Given the description of an element on the screen output the (x, y) to click on. 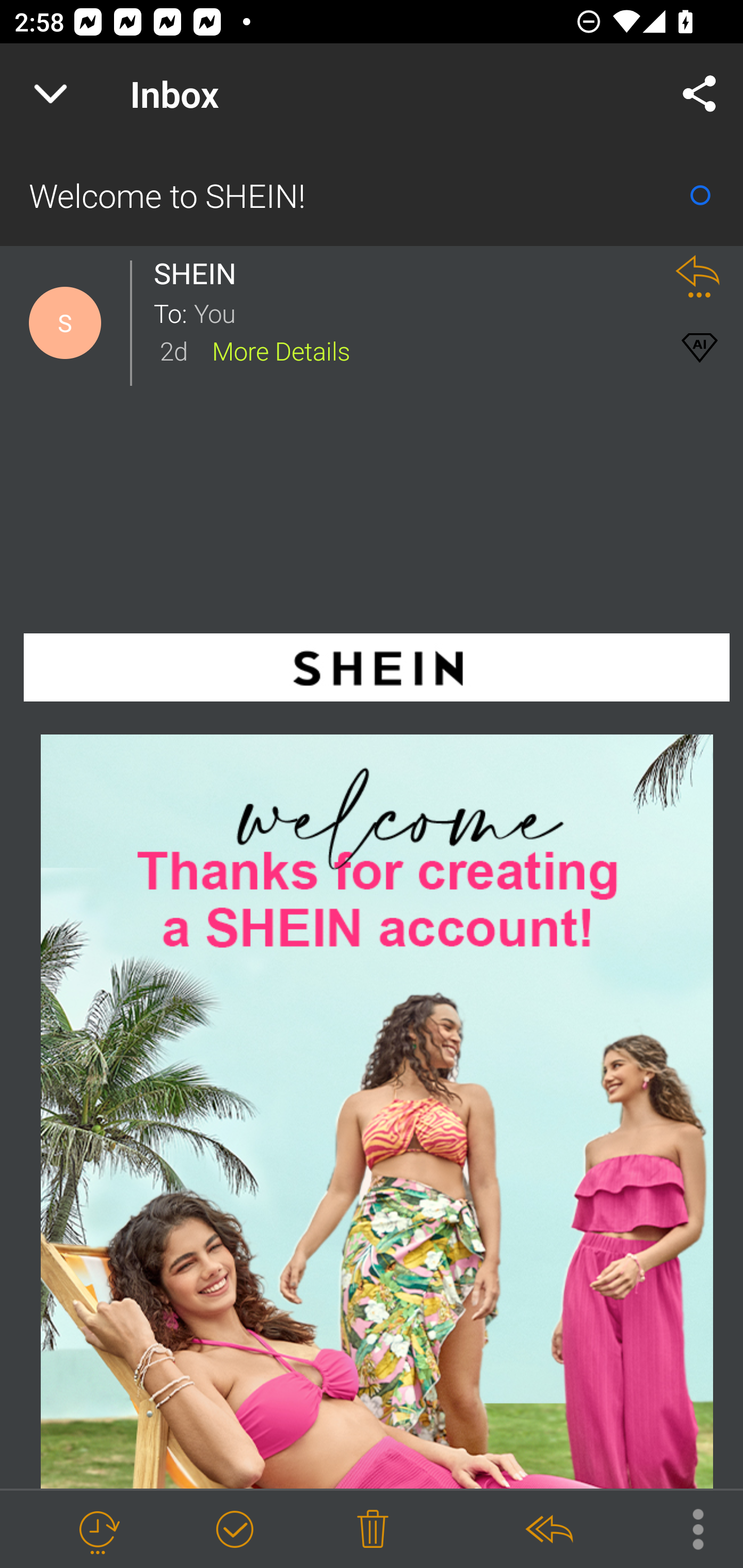
Navigate up (50, 93)
Share (699, 93)
Mark as Read (699, 194)
SHEIN (200, 273)
Contact Details (64, 322)
More Details (280, 349)
SHEIN (376, 672)
shein-picks (376, 1110)
More Options (687, 1528)
Snooze (97, 1529)
Mark as Done (234, 1529)
Delete (372, 1529)
Reply All (548, 1529)
